Given the description of an element on the screen output the (x, y) to click on. 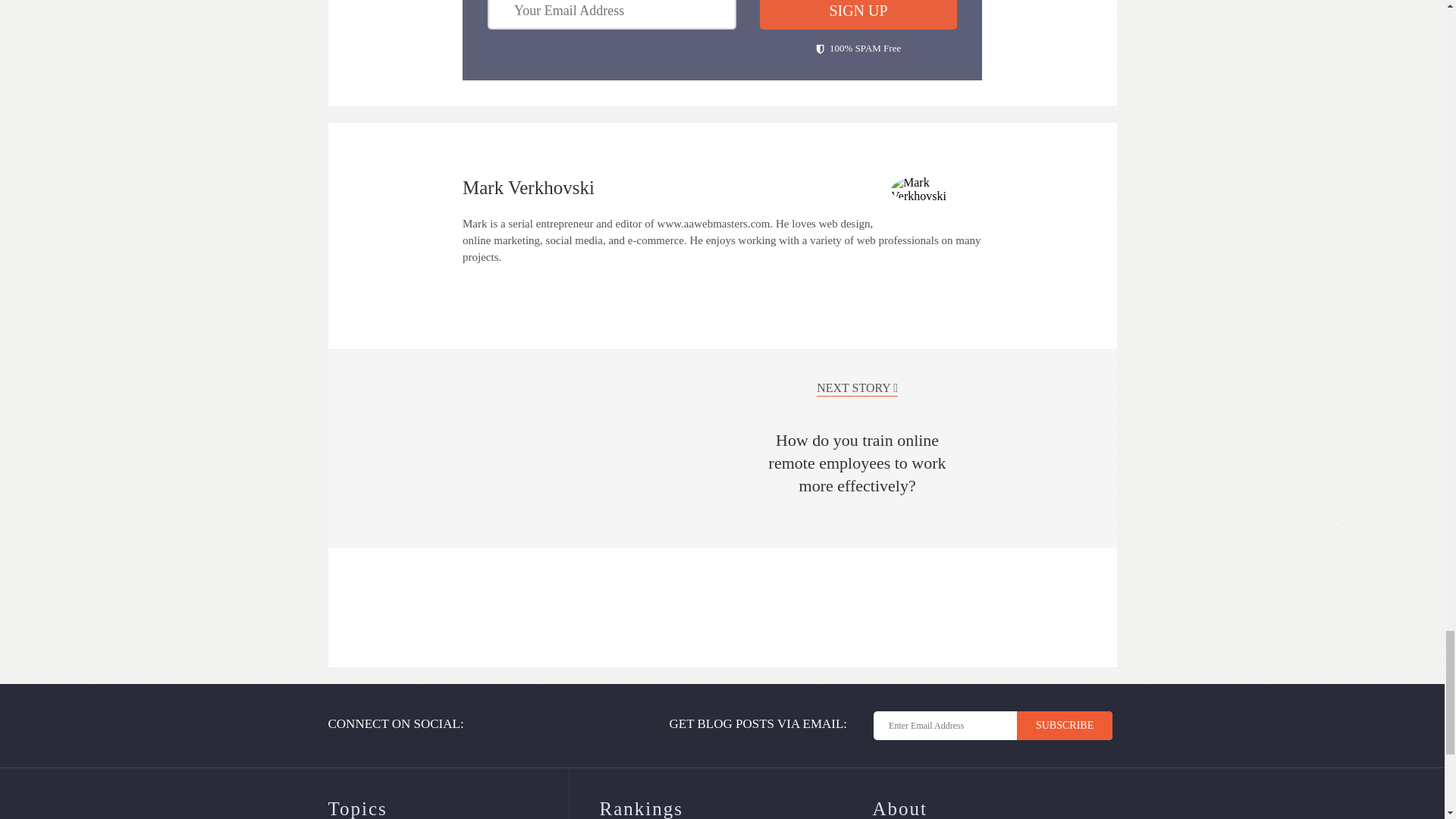
SUBSCRIBE (1064, 725)
Sign Up (858, 14)
